Given the description of an element on the screen output the (x, y) to click on. 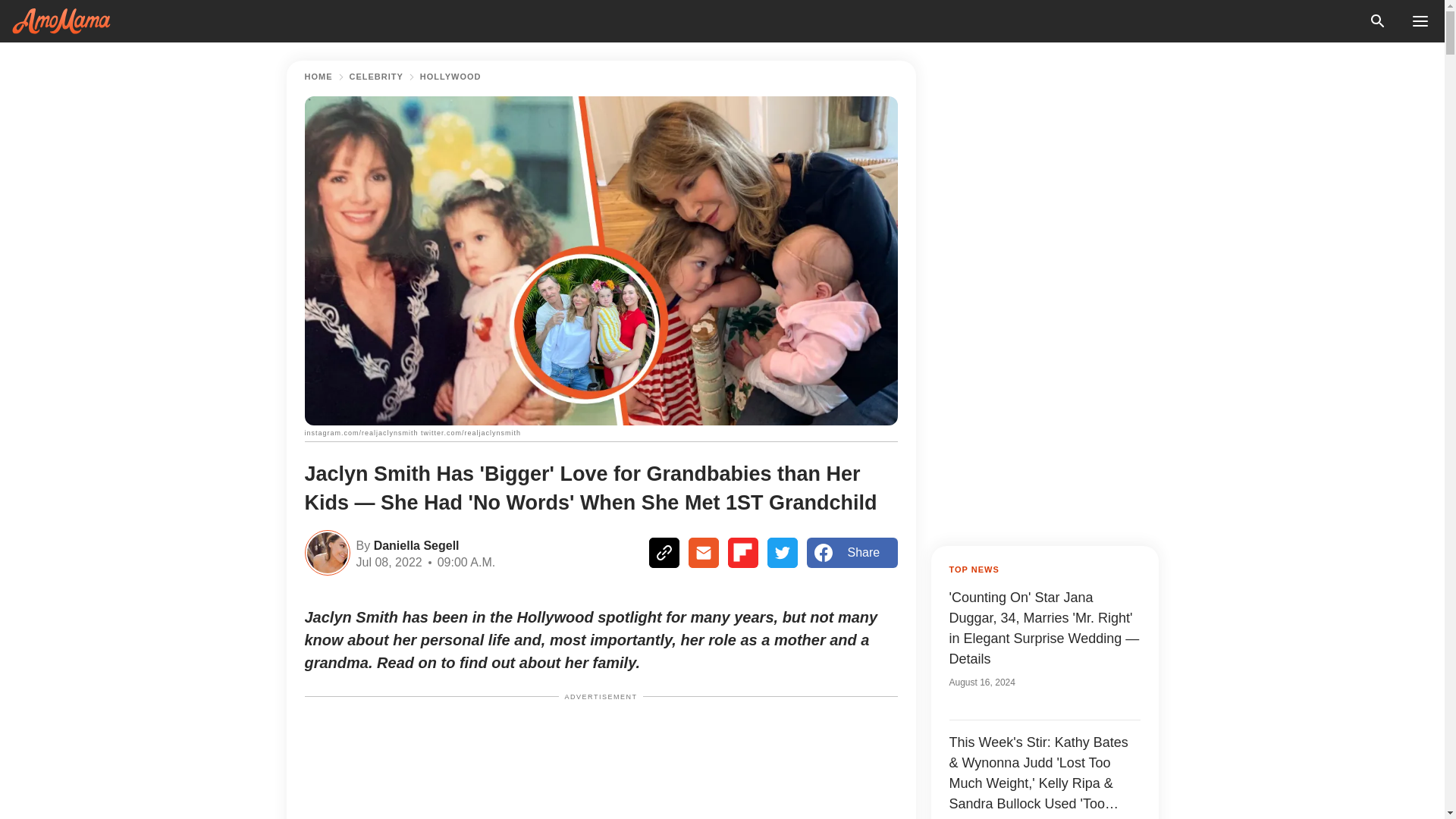
HOME (318, 76)
CELEBRITY (376, 76)
HOLLYWOOD (450, 76)
Daniella Segell (413, 544)
